Given the description of an element on the screen output the (x, y) to click on. 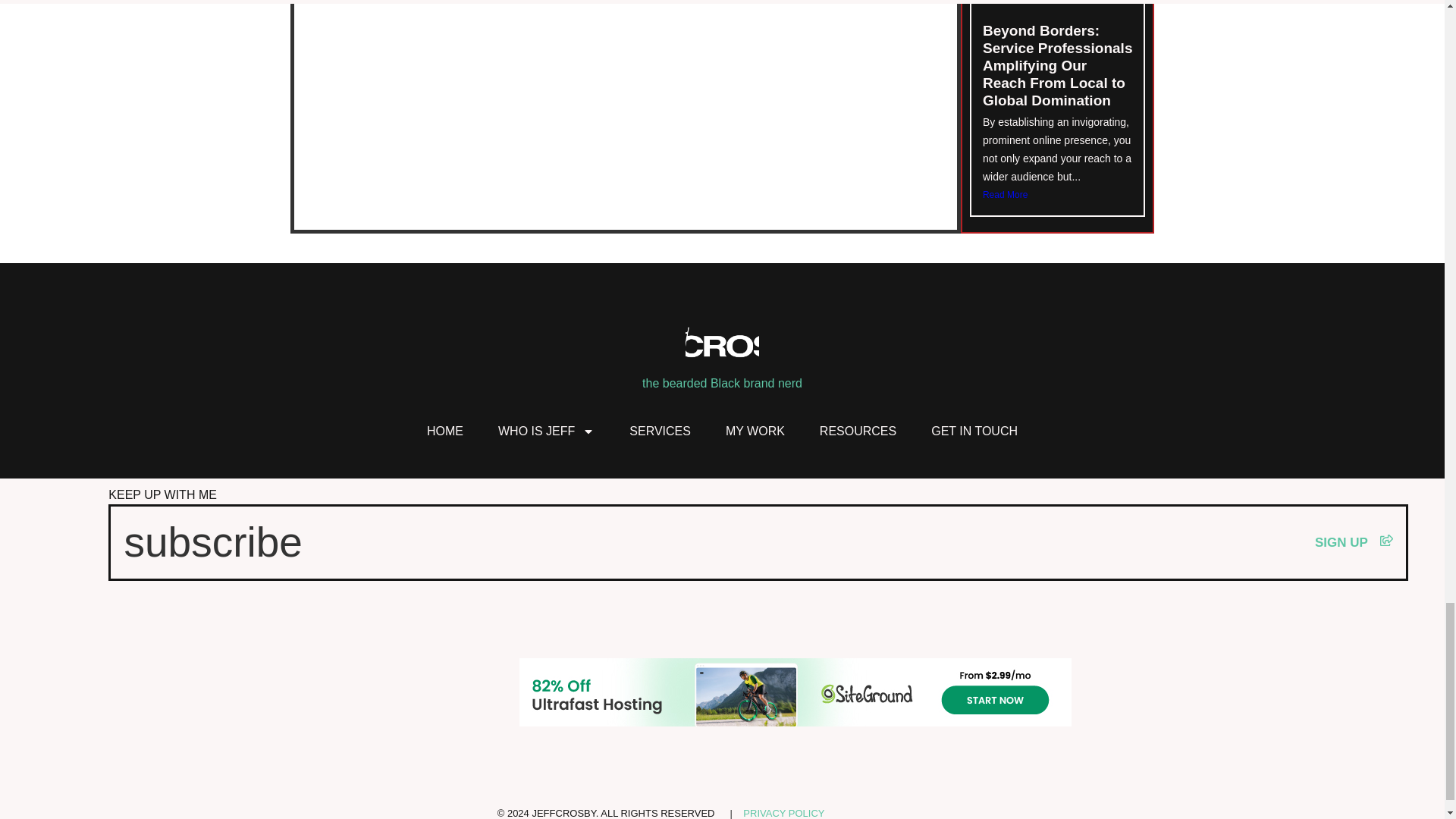
WHO IS JEFF (545, 431)
SERVICES (659, 431)
RESOURCES (857, 431)
Read More (1057, 194)
HOME (444, 431)
MY WORK (755, 431)
GET IN TOUCH (974, 431)
Comment Form (625, 70)
